Given the description of an element on the screen output the (x, y) to click on. 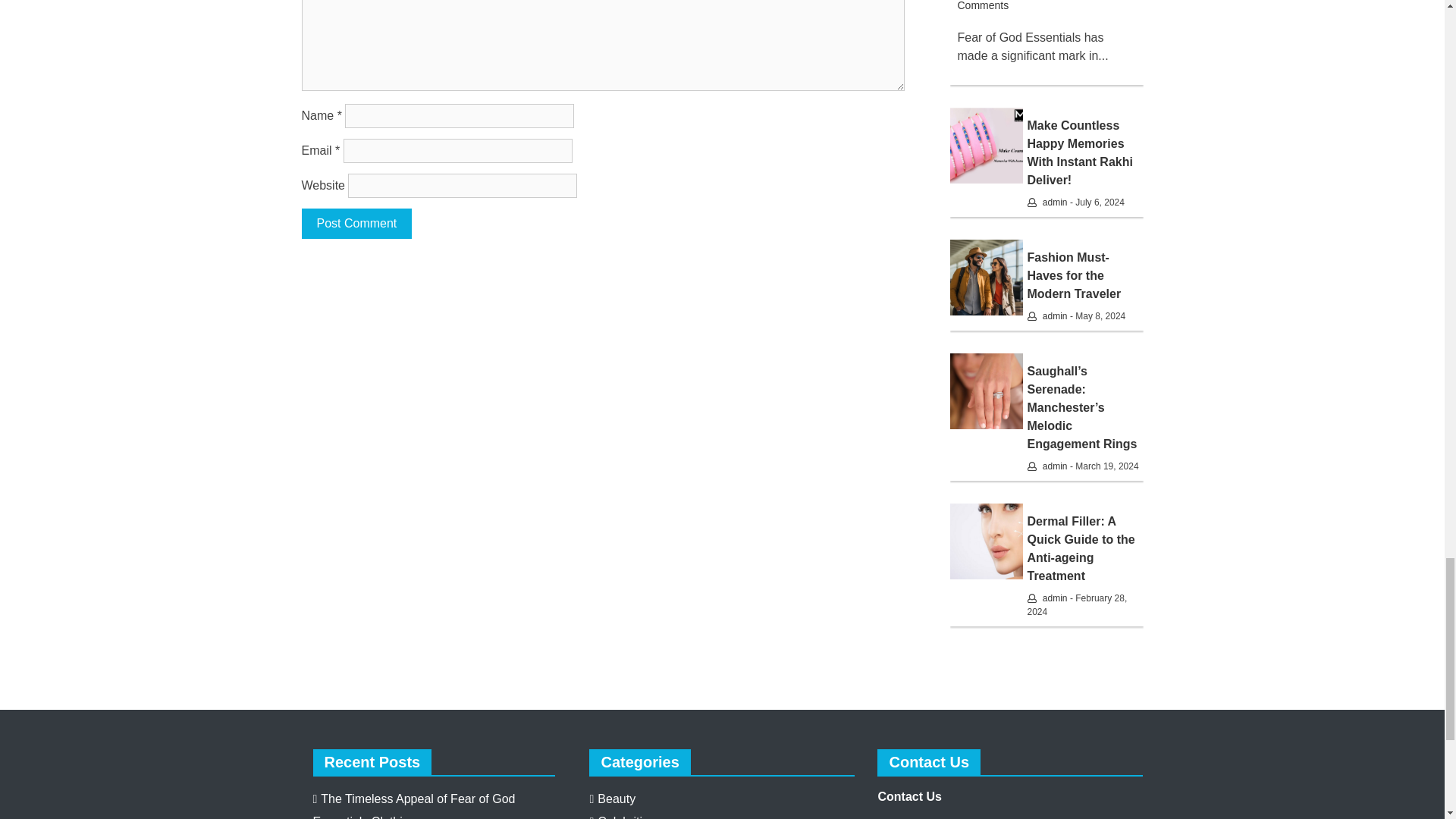
Post Comment (356, 223)
Post Comment (356, 223)
